Given the description of an element on the screen output the (x, y) to click on. 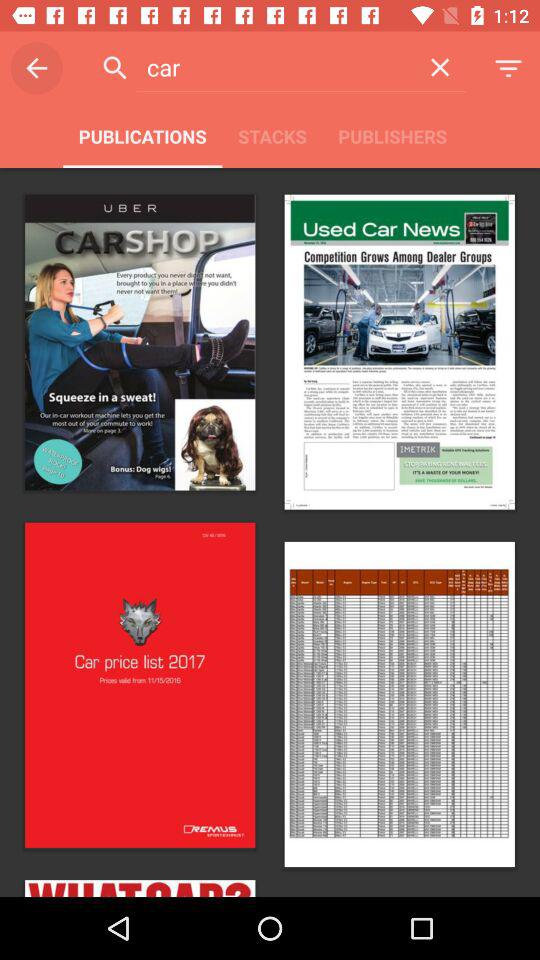
press the icon above the publishers item (439, 67)
